Given the description of an element on the screen output the (x, y) to click on. 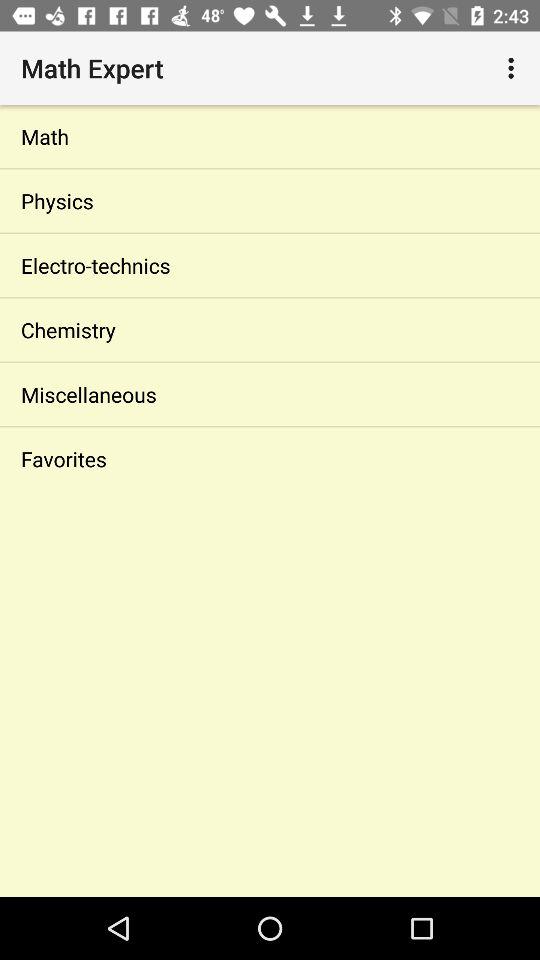
turn off icon below electro-technics item (270, 329)
